Given the description of an element on the screen output the (x, y) to click on. 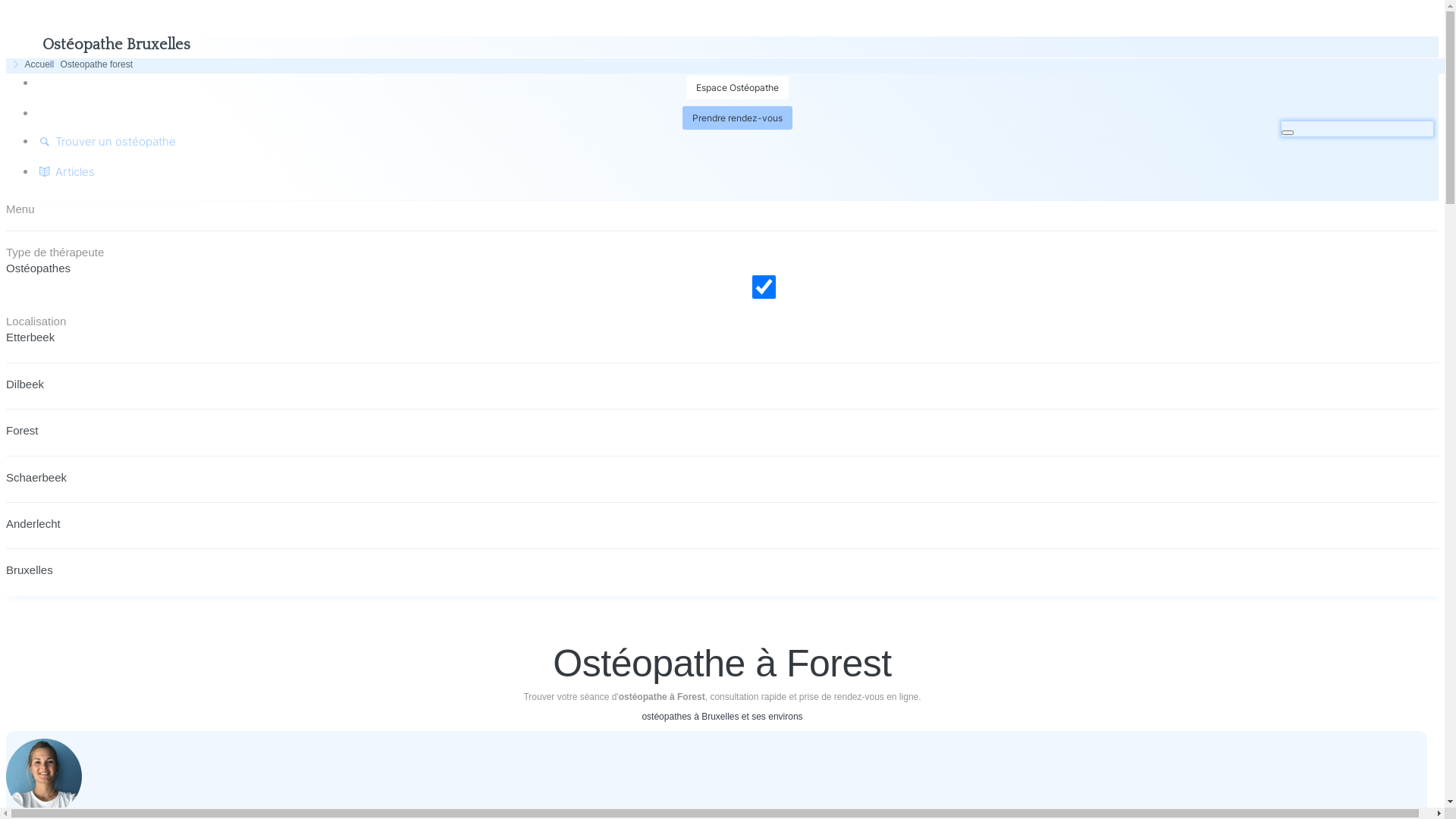
Articles Element type: text (65, 171)
Accueil Element type: text (31, 64)
Etterbeek Element type: text (30, 337)
Bruxelles Element type: text (29, 570)
Dilbeek Element type: text (24, 384)
Anderlecht Element type: text (33, 524)
Prendre rendez-vous Element type: text (737, 117)
Osteopathe forest Element type: text (88, 64)
Schaerbeek Element type: text (36, 478)
Forest Element type: text (22, 431)
